Given the description of an element on the screen output the (x, y) to click on. 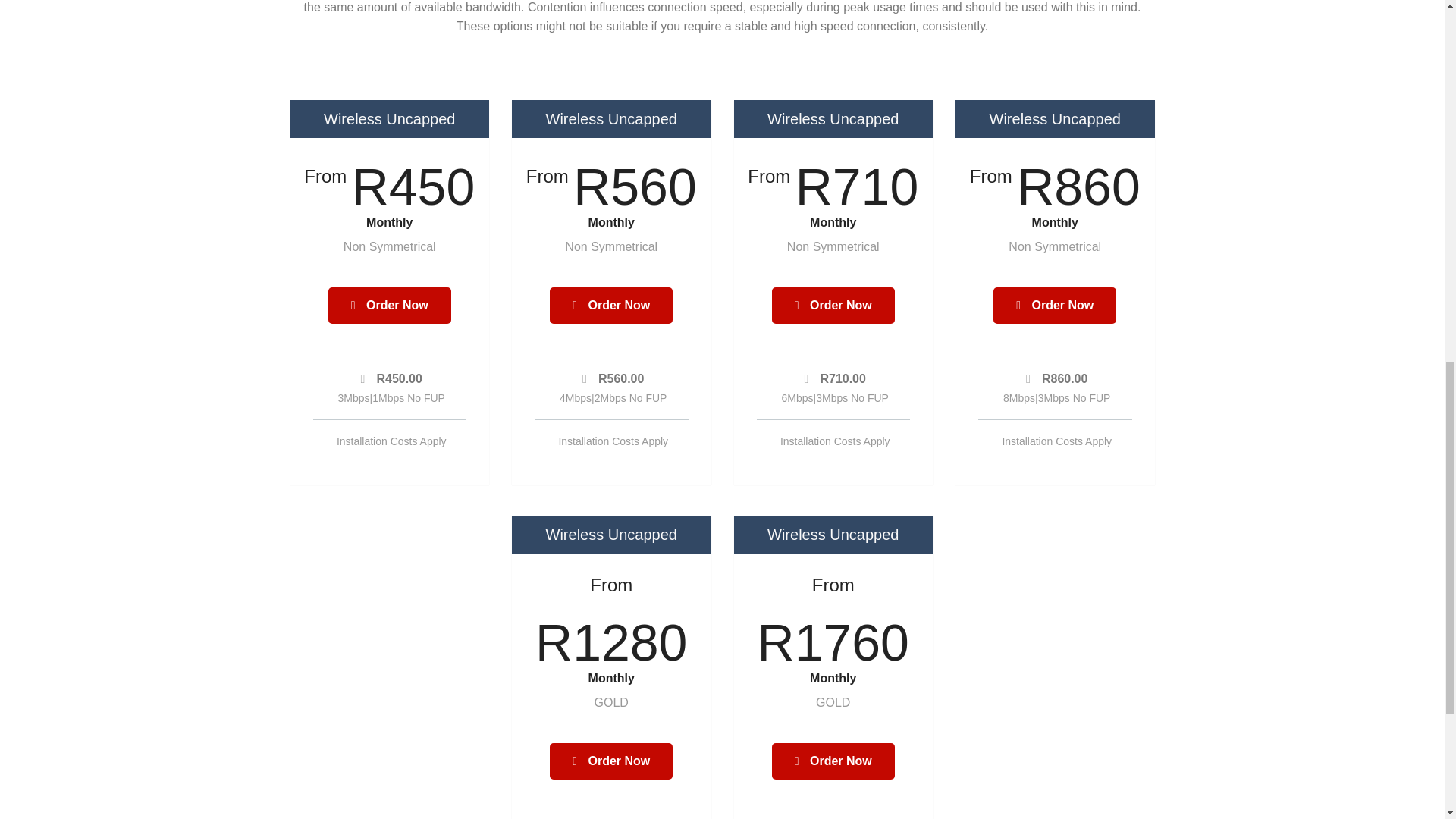
Order Now (611, 305)
Order Now (390, 305)
Order Now (833, 305)
Order Now (1054, 305)
Order Now (833, 760)
Order Now (611, 760)
